Given the description of an element on the screen output the (x, y) to click on. 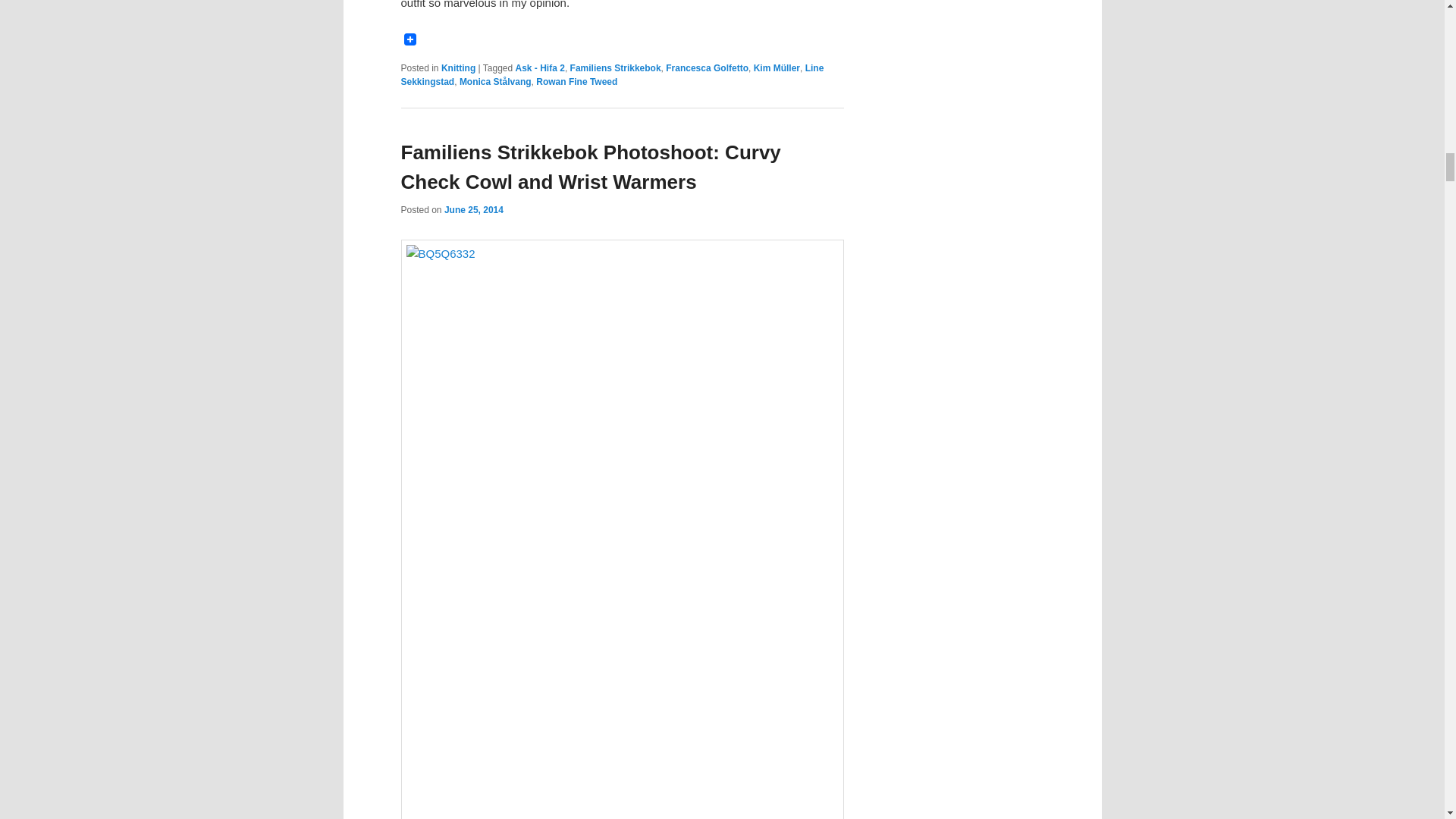
Familiens Strikkebok (615, 68)
Francesca Golfetto (706, 68)
June 25, 2014 (473, 209)
Knitting (458, 68)
Rowan Fine Tweed (576, 81)
Ask - Hifa 2 (539, 68)
Line Sekkingstad (612, 74)
7:26 am (473, 209)
